Given the description of an element on the screen output the (x, y) to click on. 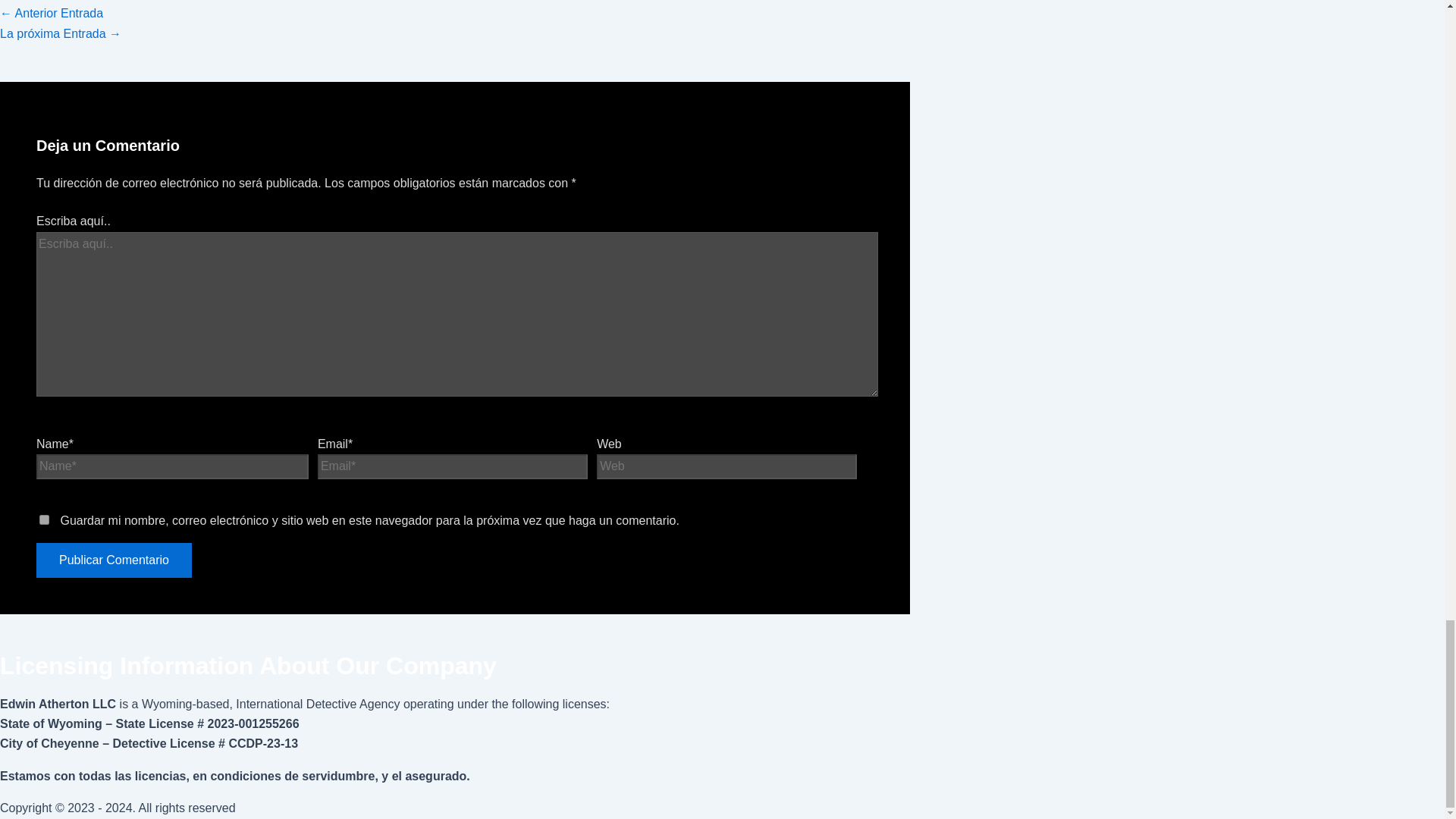
Publicar Comentario (114, 560)
Unleashing the Power of Asset Recovery Specialists in 2024 (60, 32)
Publicar Comentario (114, 560)
yes (44, 519)
